Given the description of an element on the screen output the (x, y) to click on. 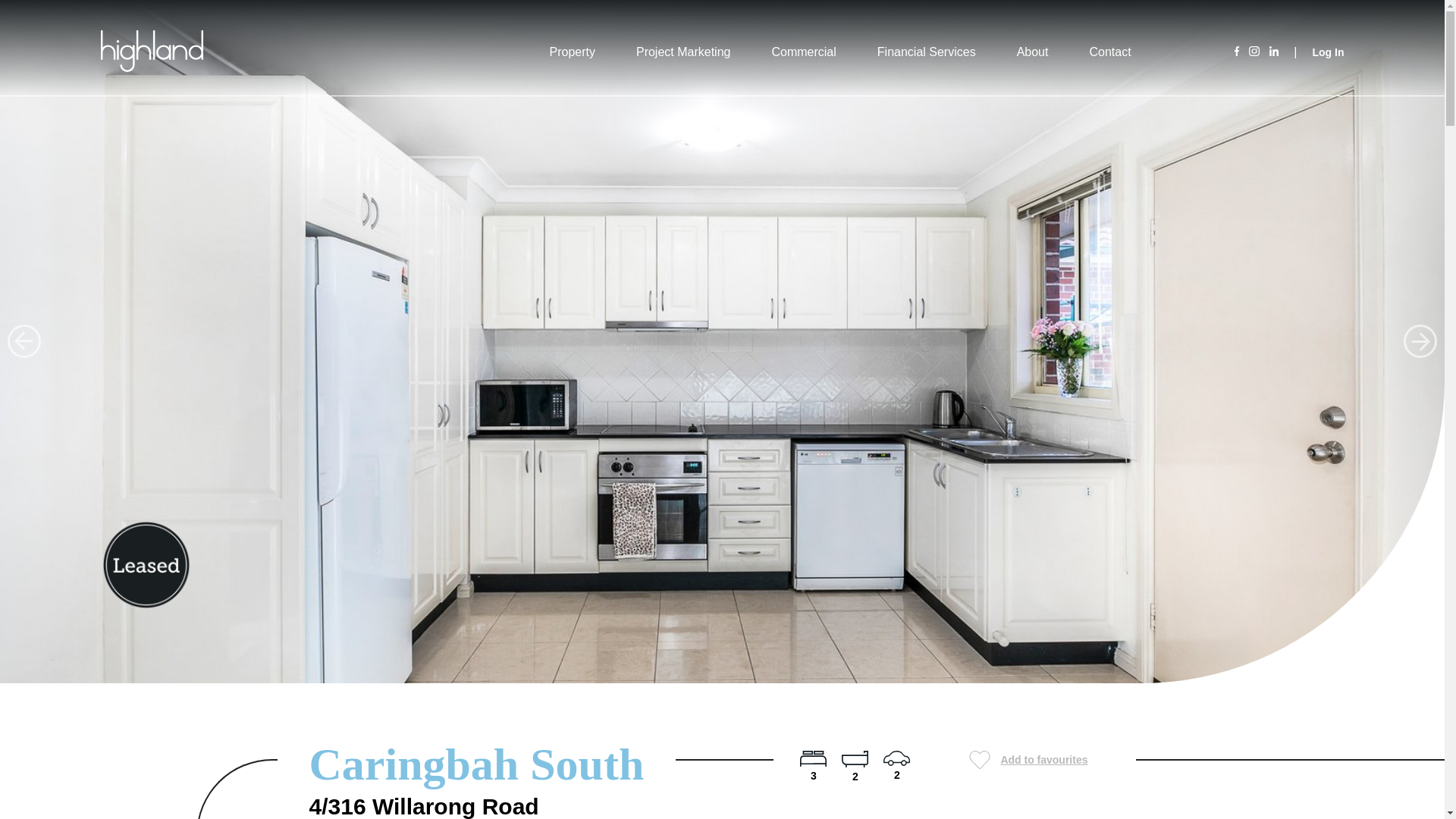
Contact (1110, 51)
Add to favourites (1028, 760)
Financial Services (926, 51)
Property (571, 51)
About (1032, 51)
Log In (1327, 51)
Project Marketing (683, 51)
Commercial (803, 51)
